Given the description of an element on the screen output the (x, y) to click on. 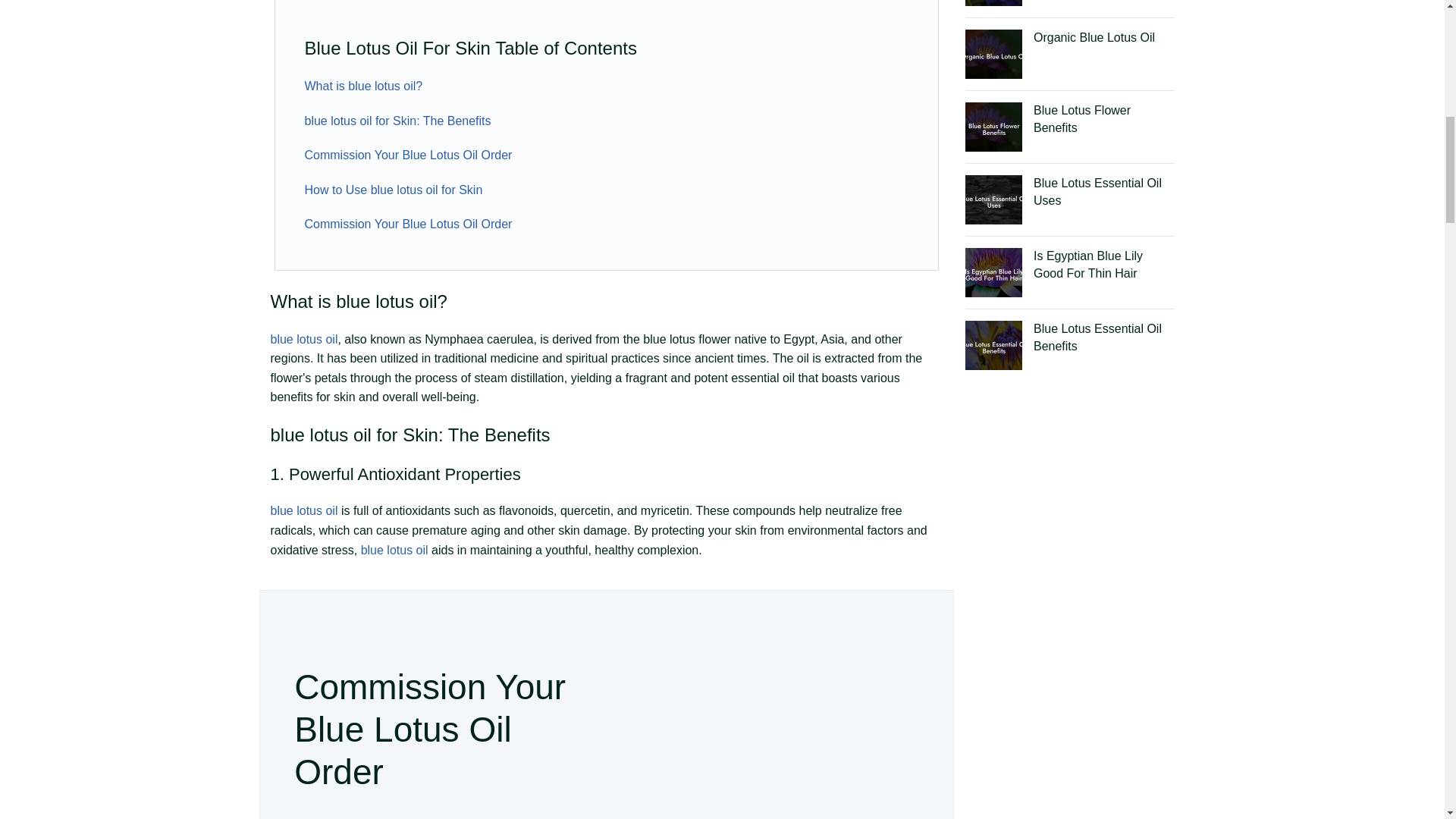
Commission Your Blue Lotus Oil Order (408, 154)
blue lotus oil for Skin: The Benefits (398, 120)
blue lotus oil (303, 510)
What is blue lotus oil? (363, 85)
blue lotus oil (303, 338)
blue lotus oil (320, 435)
blue lotus oil (394, 549)
blue lotus oil (386, 301)
How to Use blue lotus oil for Skin (393, 189)
Commission Your Blue Lotus Oil Order (408, 223)
